Given the description of an element on the screen output the (x, y) to click on. 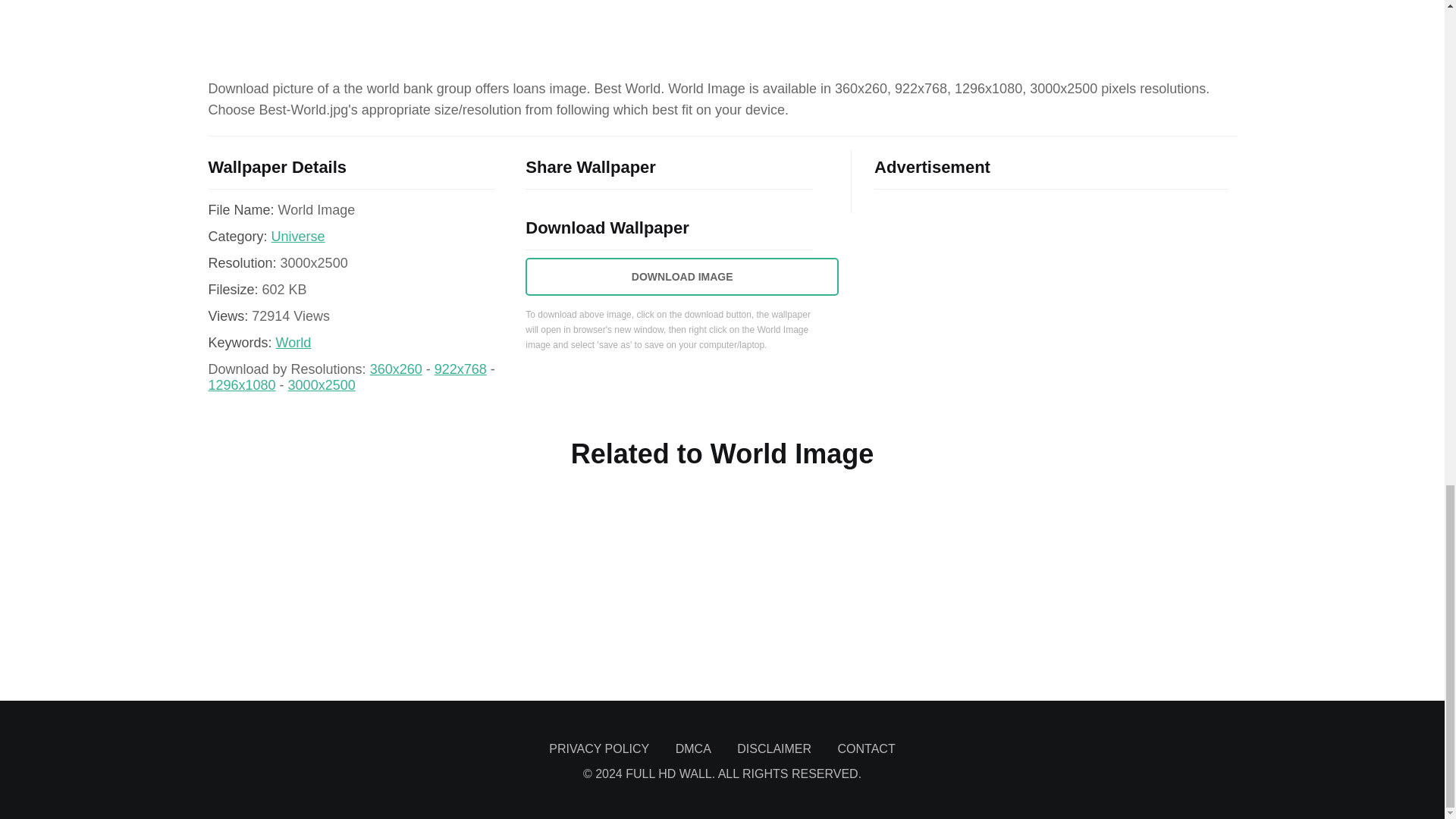
View all posts in Universe (297, 236)
